Given the description of an element on the screen output the (x, y) to click on. 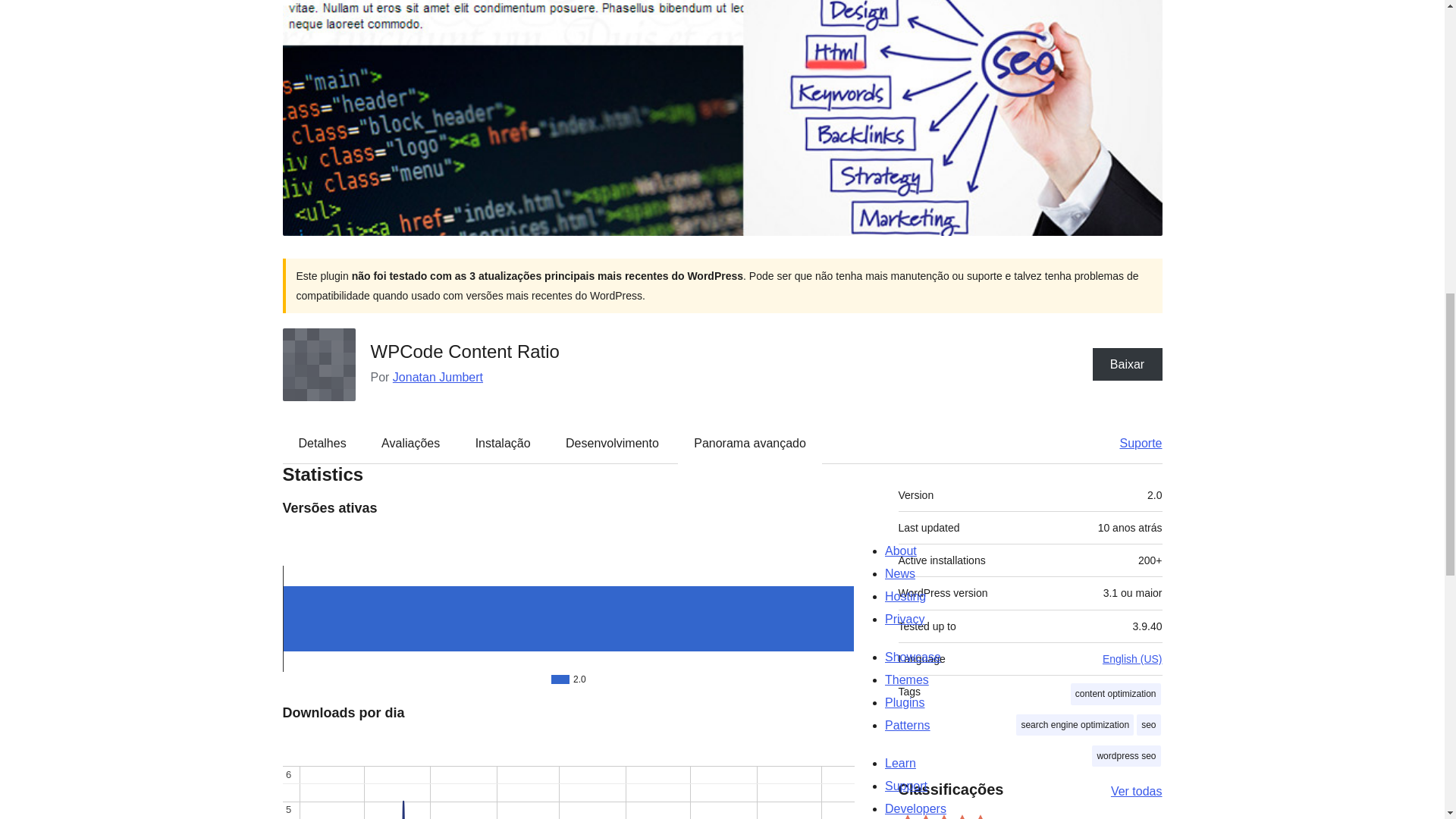
2.0 (567, 611)
WPCode Content Ratio (464, 351)
Baixar (1127, 364)
Detalhes (322, 443)
Jonatan Jumbert (438, 376)
